Given the description of an element on the screen output the (x, y) to click on. 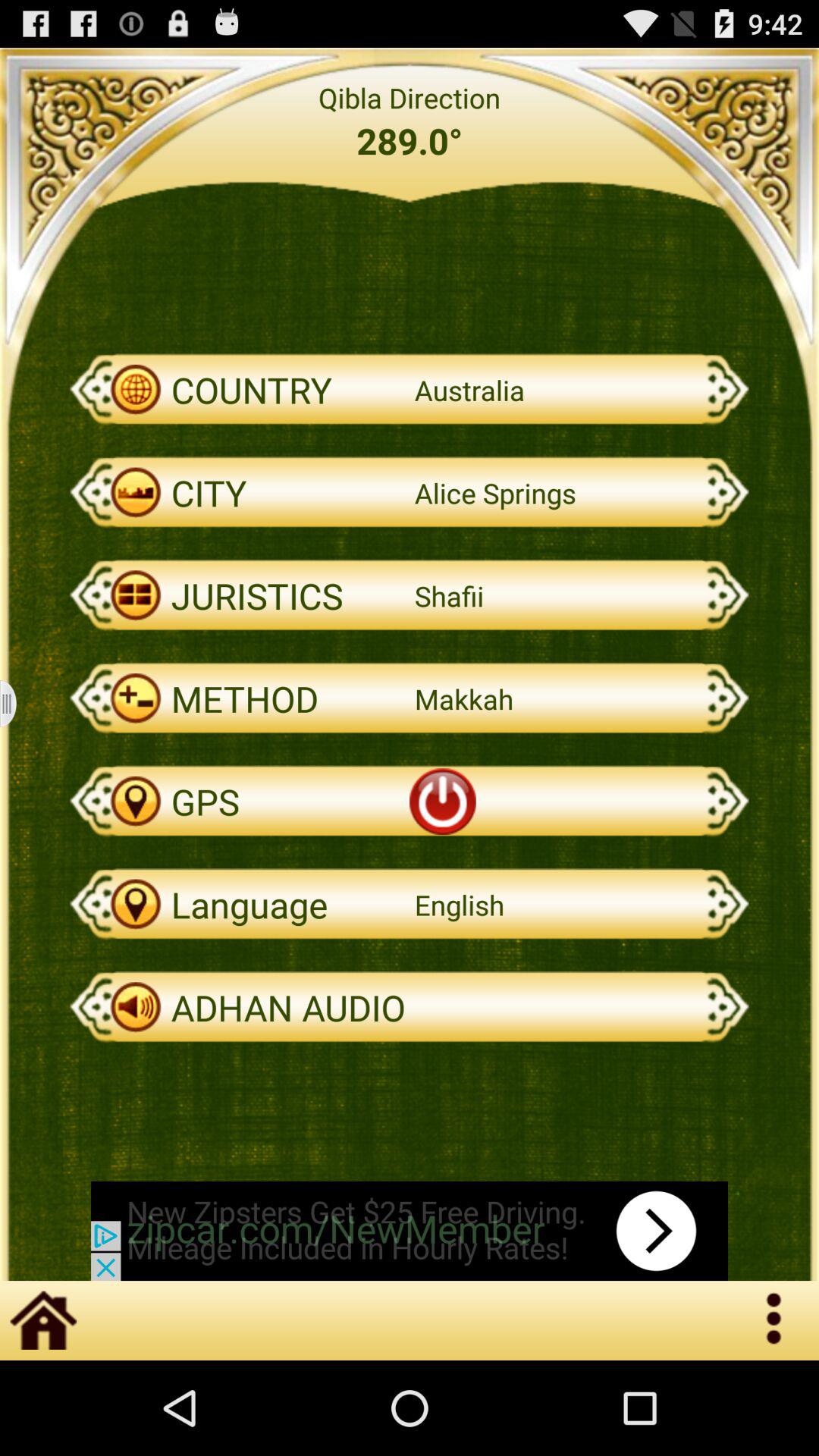
description (18, 703)
